Given the description of an element on the screen output the (x, y) to click on. 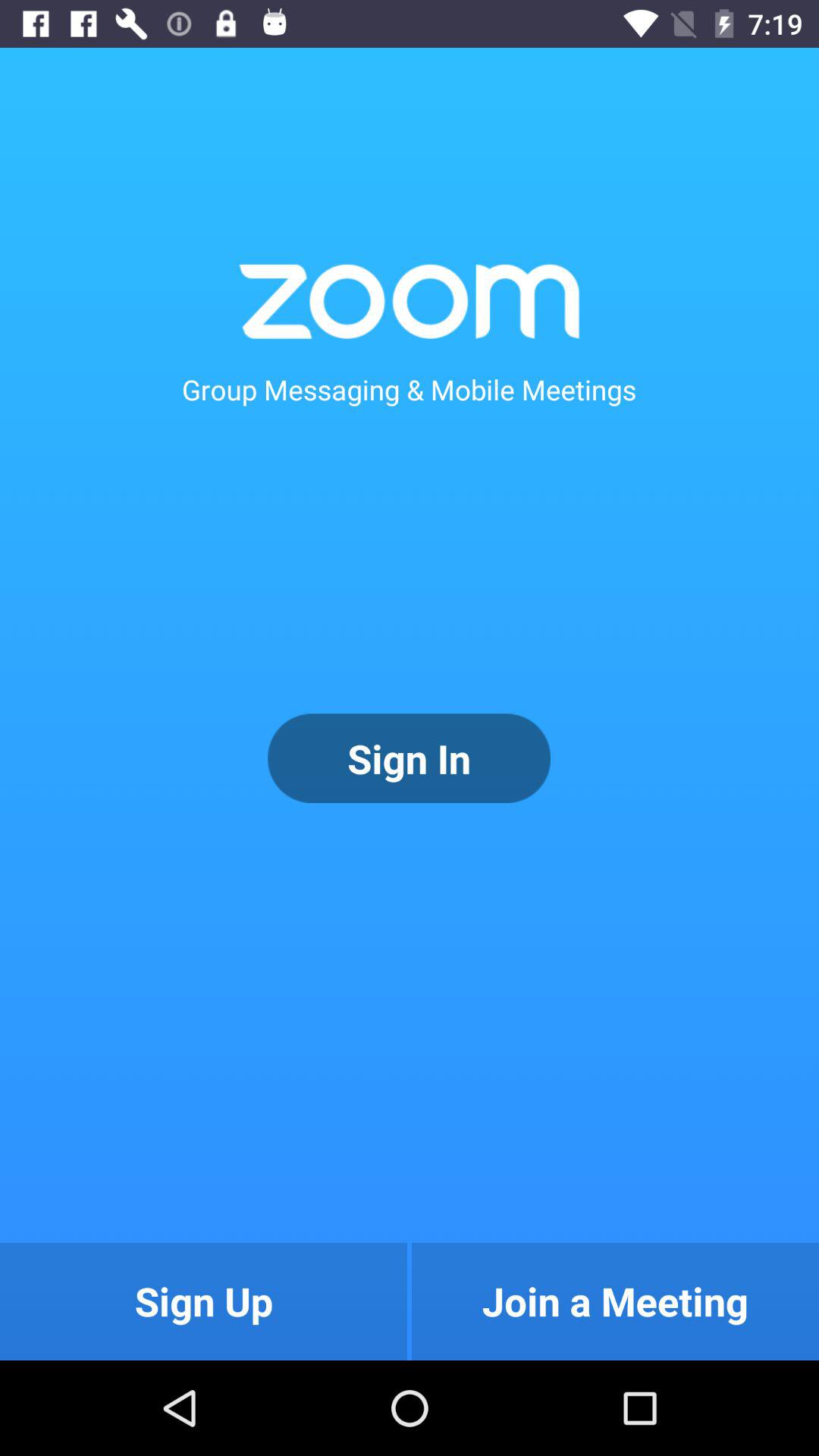
swipe to the sign up (203, 1301)
